Given the description of an element on the screen output the (x, y) to click on. 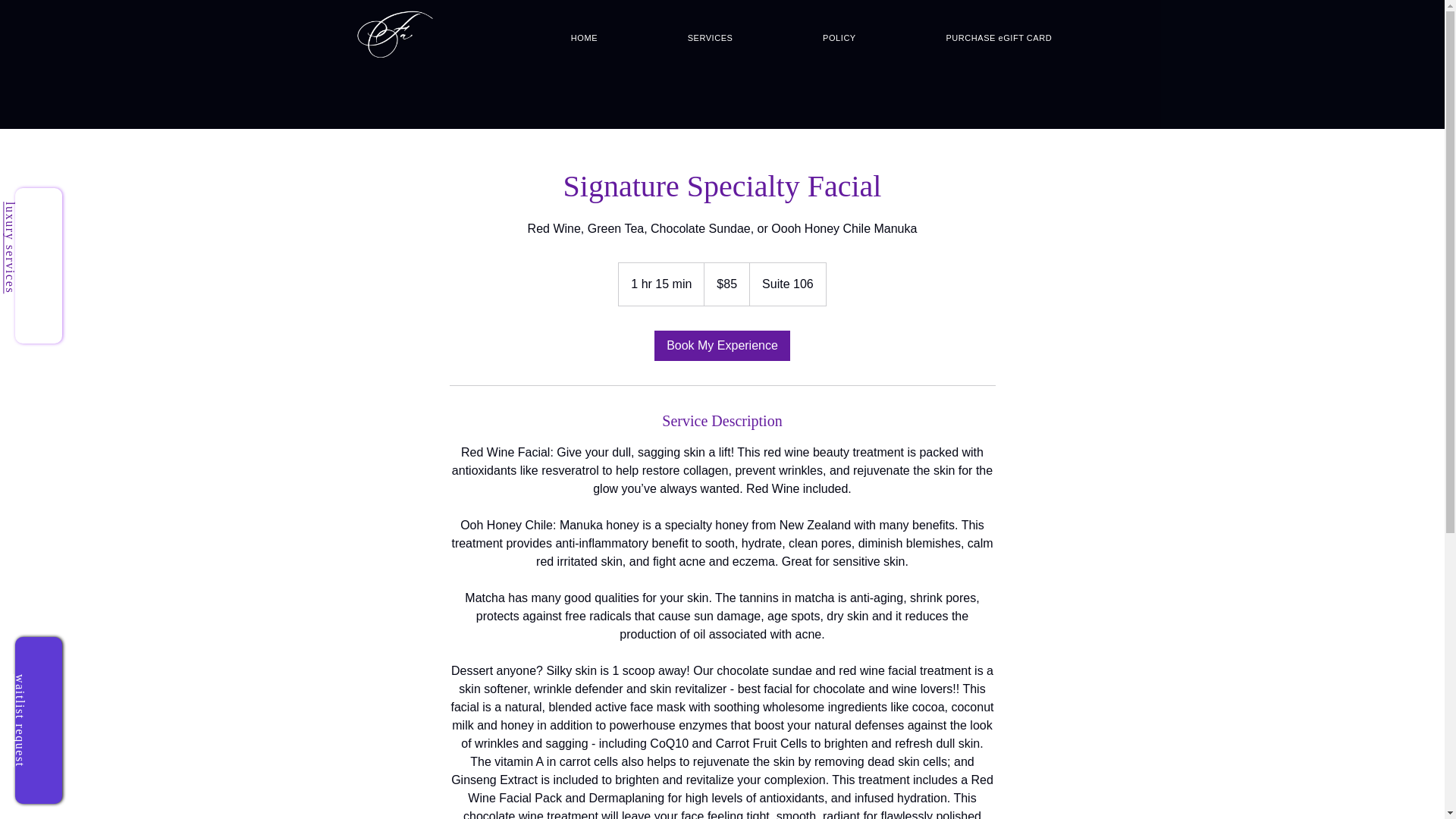
luxury services (10, 247)
waitlist request (19, 720)
HOME (584, 37)
PURCHASE eGIFT CARD (998, 37)
Book My Experience (721, 345)
SERVICES (709, 37)
